Given the description of an element on the screen output the (x, y) to click on. 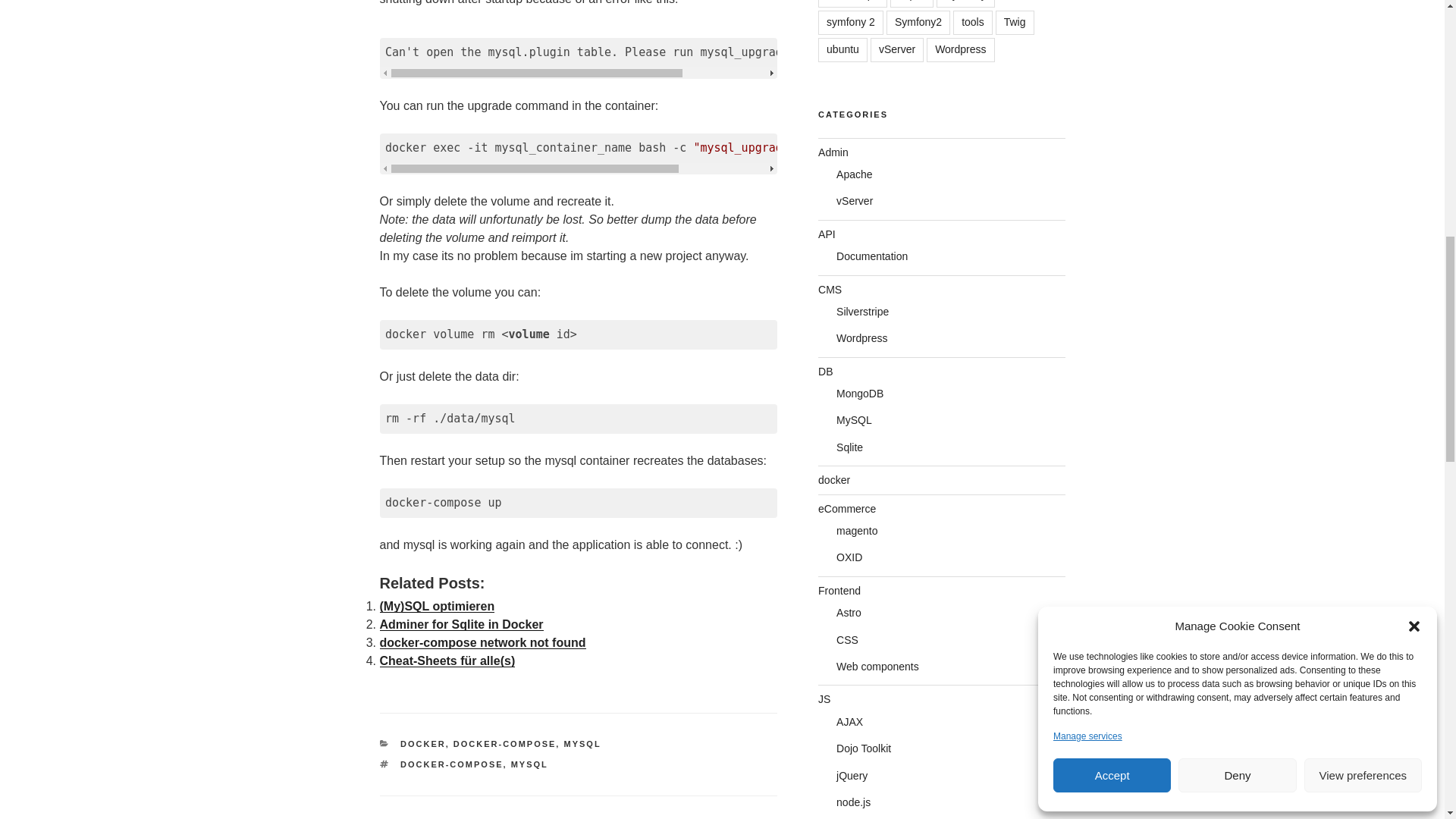
DOCKER-COMPOSE (504, 743)
MYSQL (581, 743)
MYSQL (529, 764)
Adminer for Sqlite in Docker (460, 624)
Adminer for Sqlite in Docker (460, 624)
DOCKER (422, 743)
docker-compose network not found (481, 642)
DOCKER-COMPOSE (451, 764)
docker-compose network not found (481, 642)
